Given the description of an element on the screen output the (x, y) to click on. 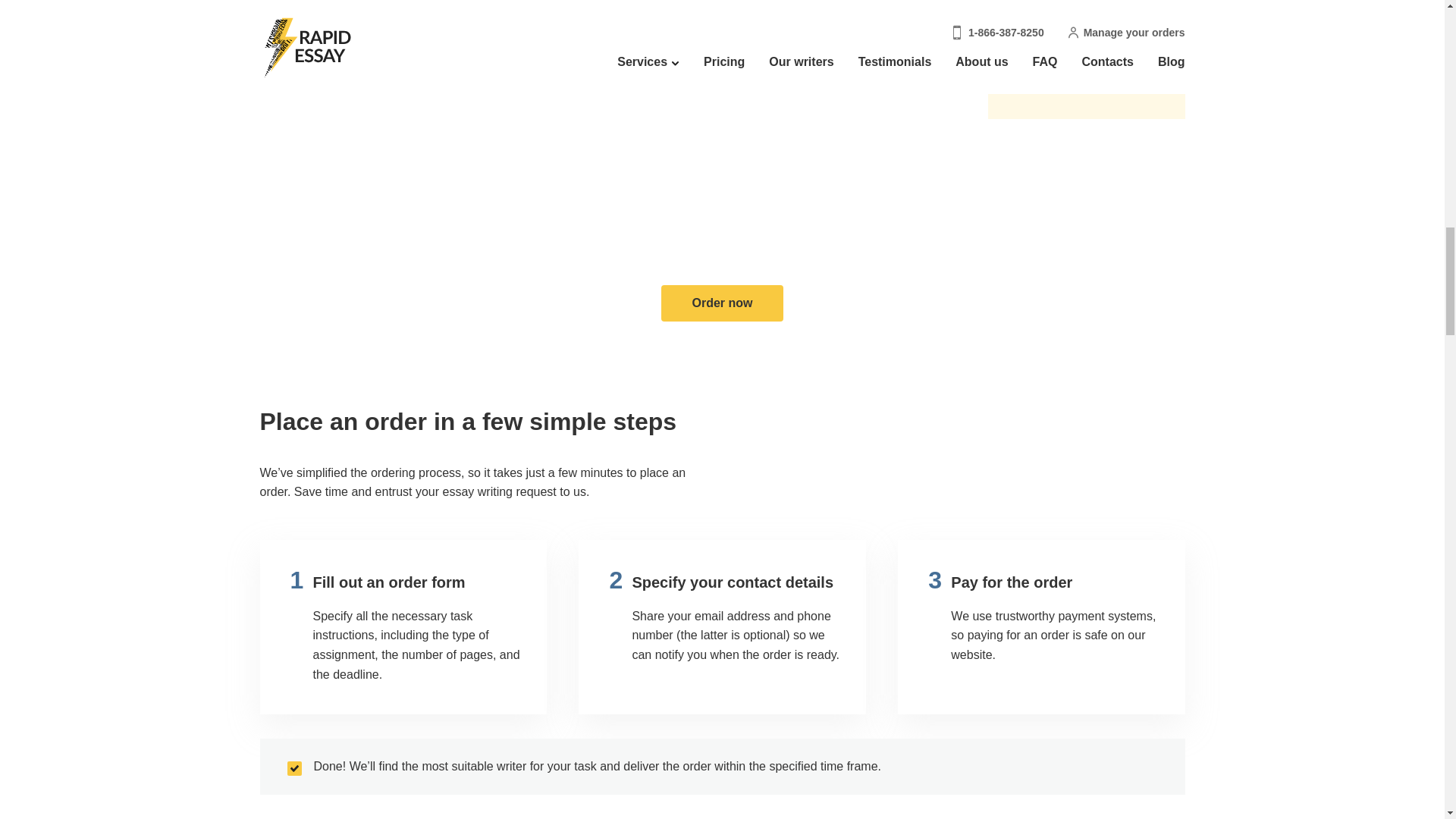
Site users (1036, 72)
Order now (722, 303)
